Given the description of an element on the screen output the (x, y) to click on. 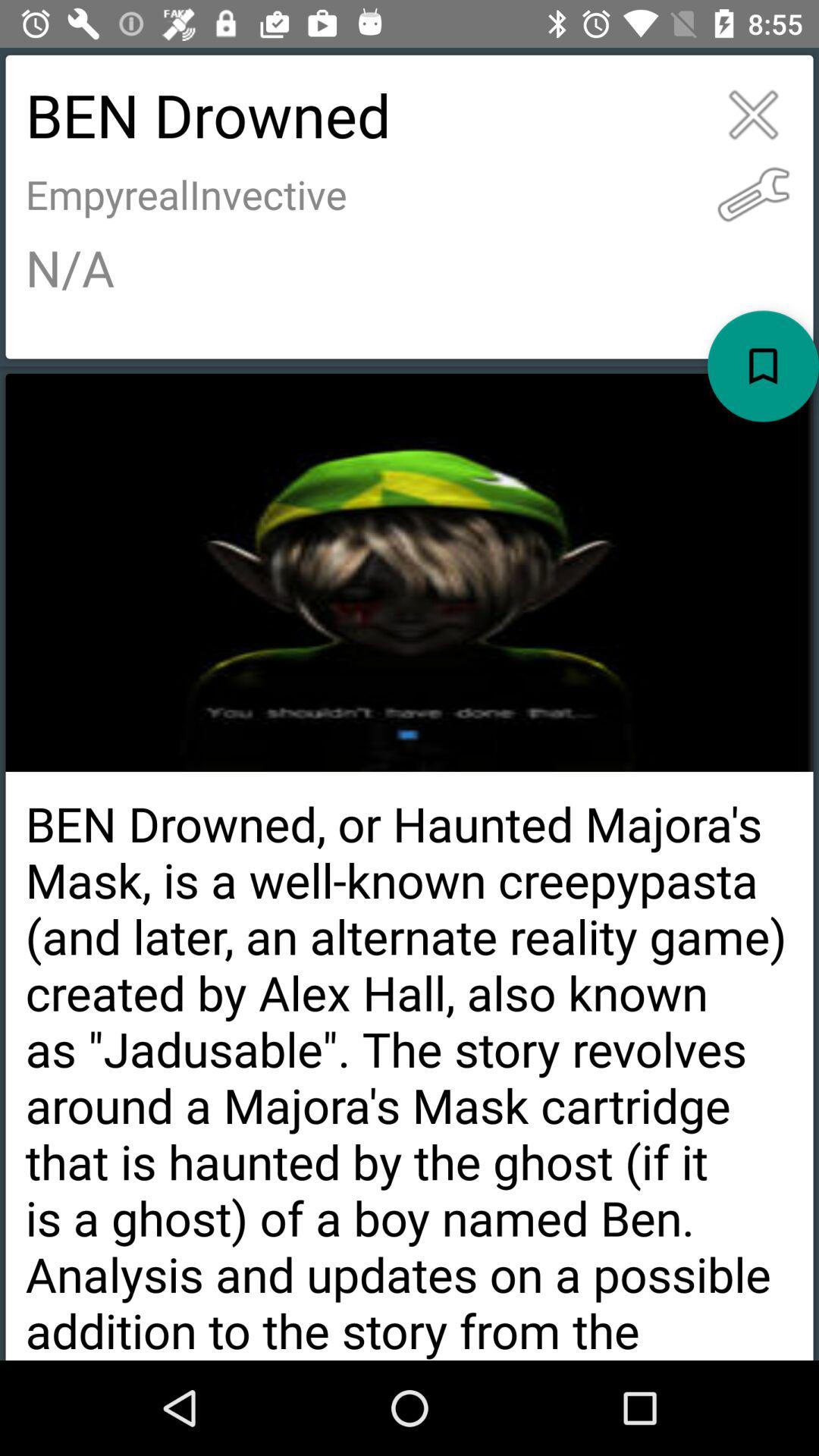
repair (753, 194)
